Given the description of an element on the screen output the (x, y) to click on. 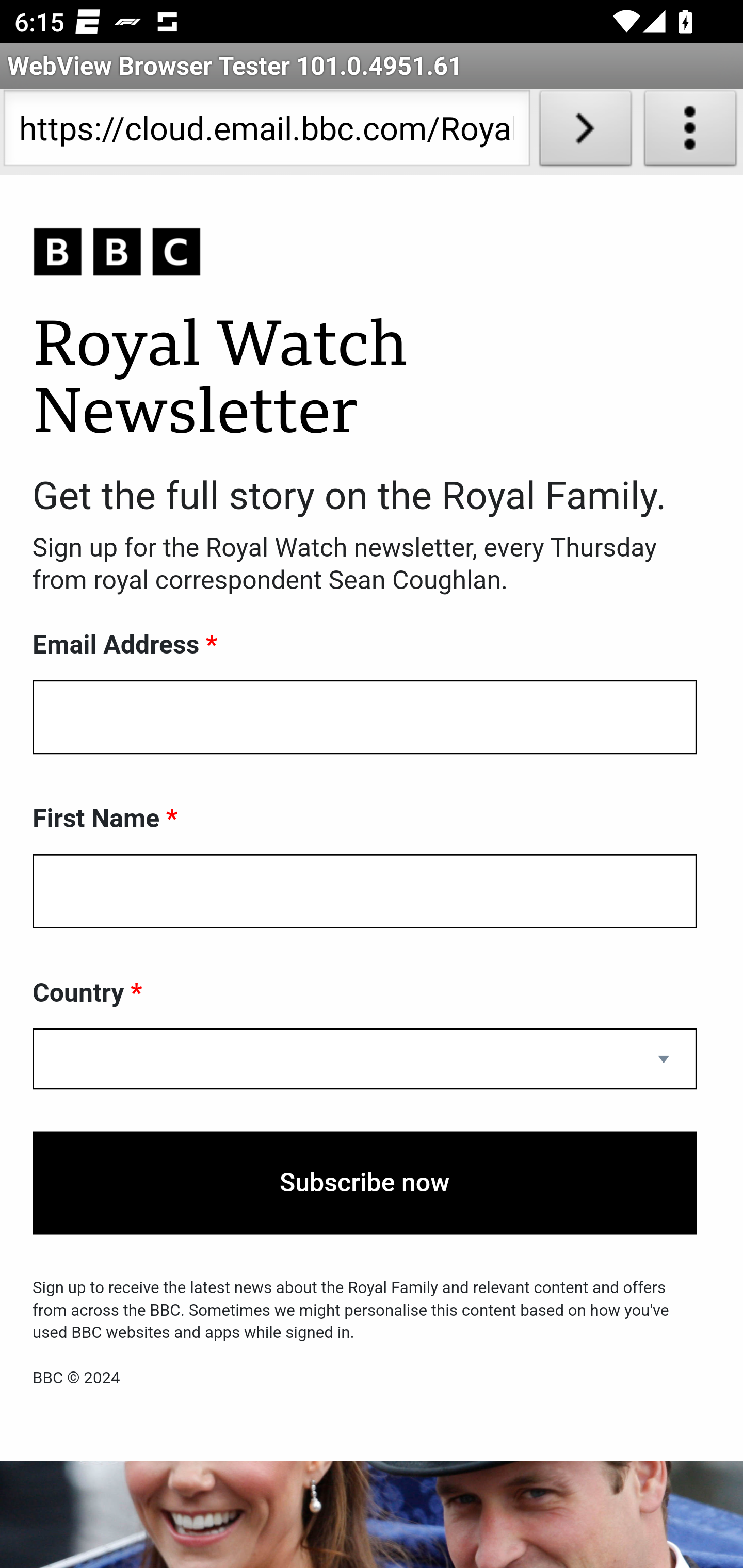
Load URL (585, 132)
About WebView (690, 132)
BBC (364, 253)
Subscribe now (364, 1182)
